Given the description of an element on the screen output the (x, y) to click on. 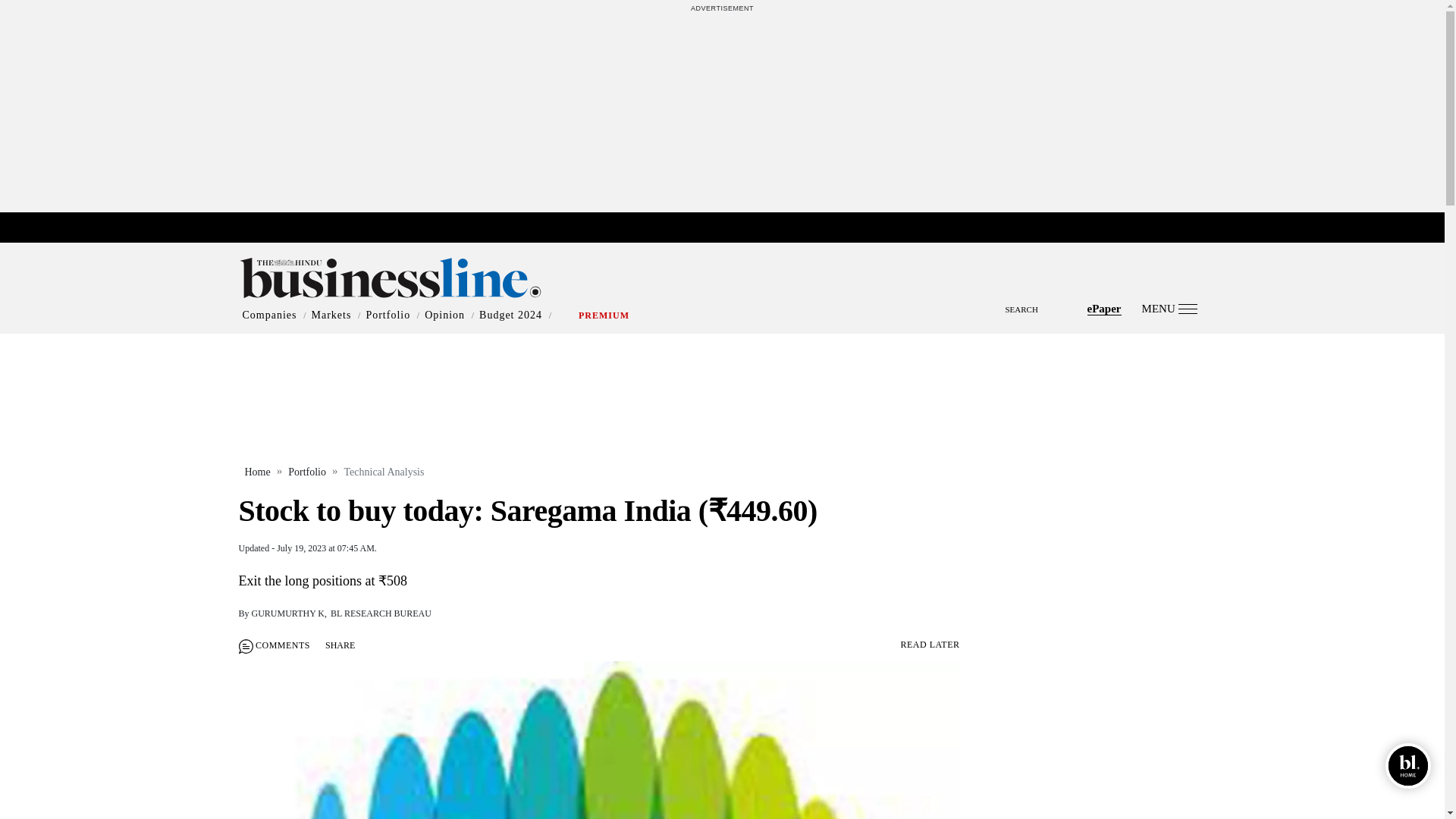
Markets (330, 315)
marketupdate (729, 228)
Budget 2024 (510, 315)
ePaper (1104, 308)
PREMIUM (603, 315)
Companies (270, 315)
Portfolio (387, 315)
SEARCH (721, 295)
MENU (1168, 308)
Opinion (444, 315)
